Given the description of an element on the screen output the (x, y) to click on. 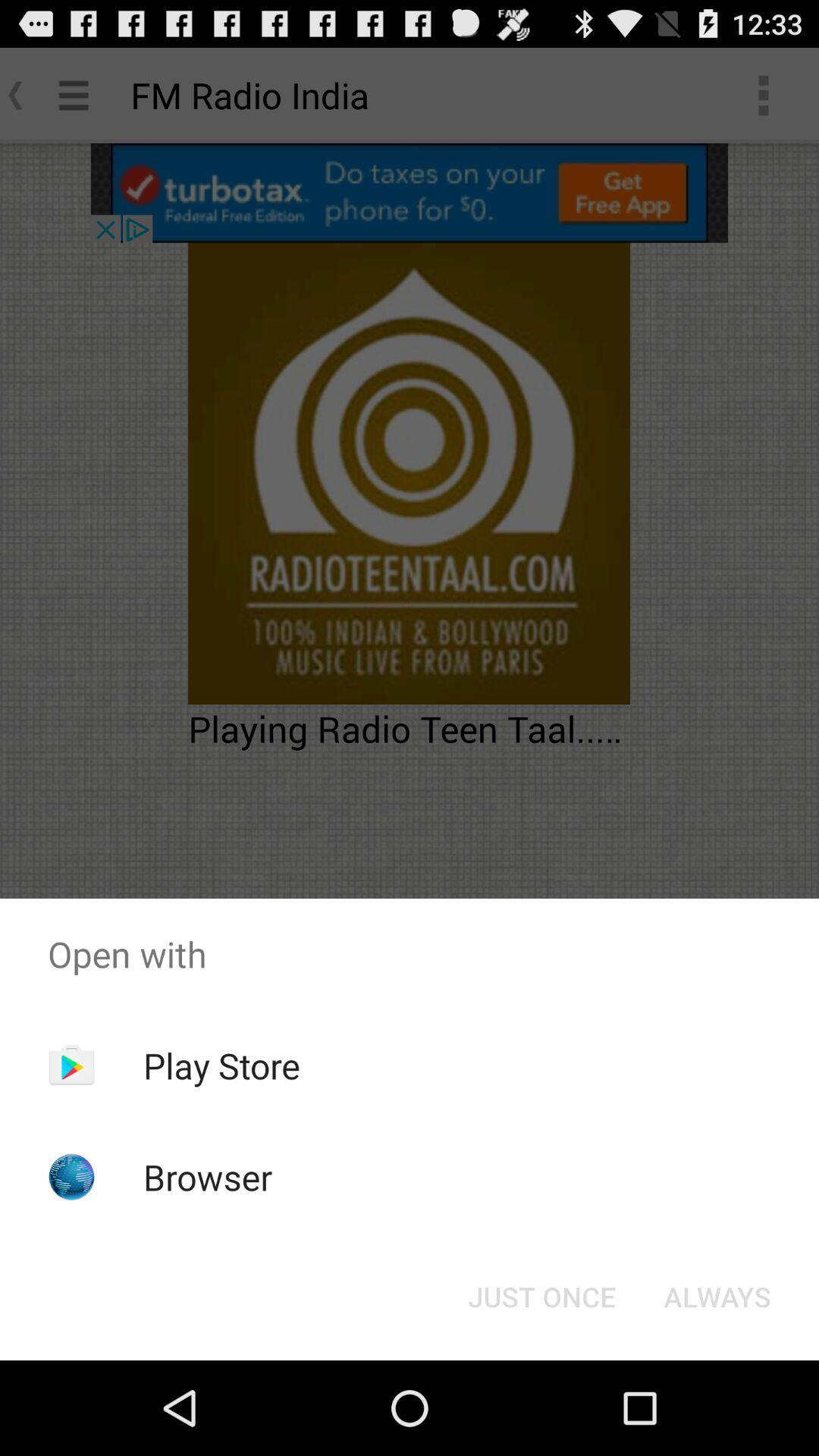
turn off the icon below the open with item (221, 1065)
